Given the description of an element on the screen output the (x, y) to click on. 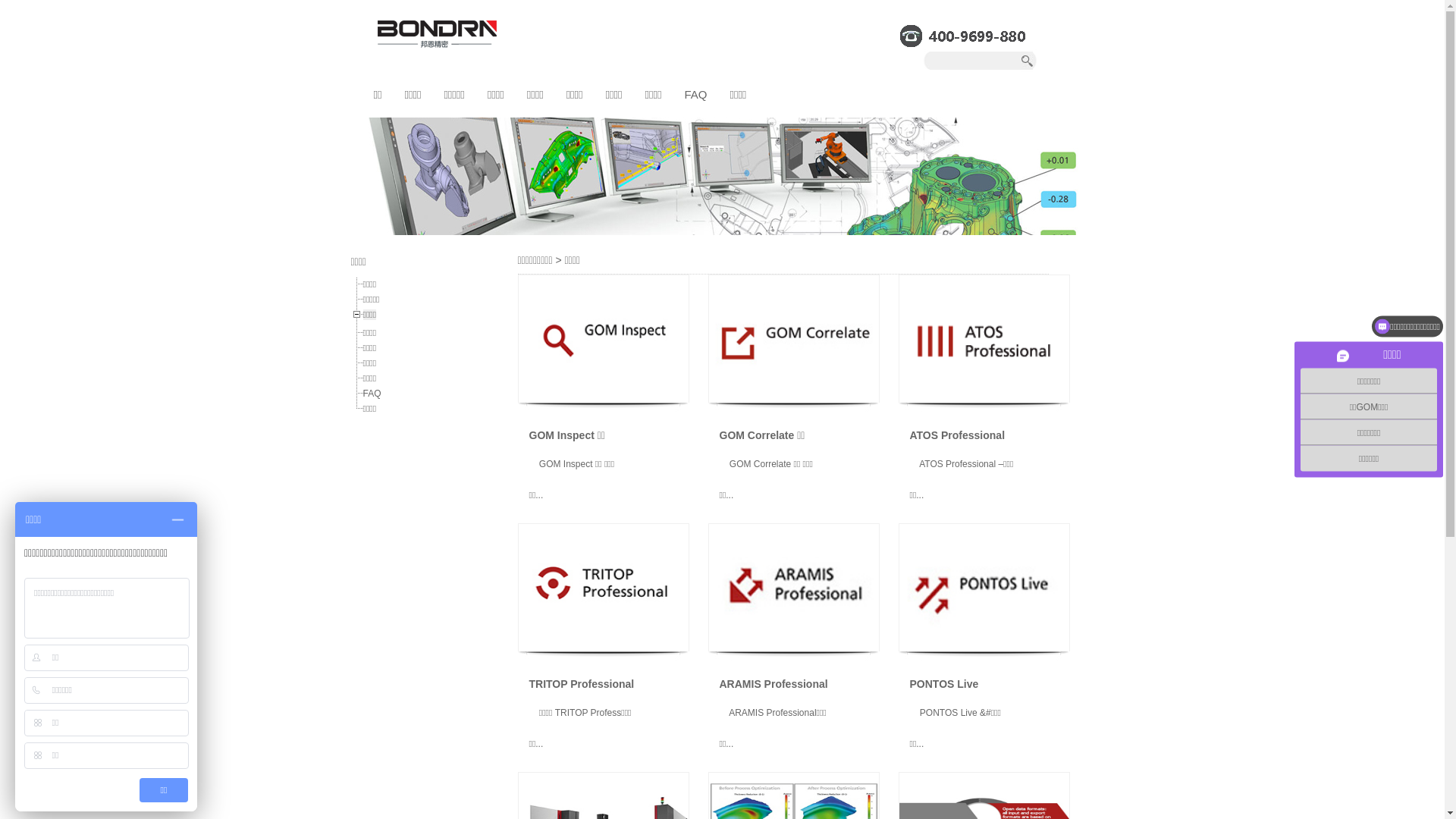
TRITOP Professional Element type: text (581, 683)
FAQ Element type: text (371, 393)
ARAMIS Professional Element type: text (772, 683)
PONTOS Live Element type: text (944, 683)
FAQ Element type: text (695, 93)
ATOS Professional Element type: text (957, 435)
